Given the description of an element on the screen output the (x, y) to click on. 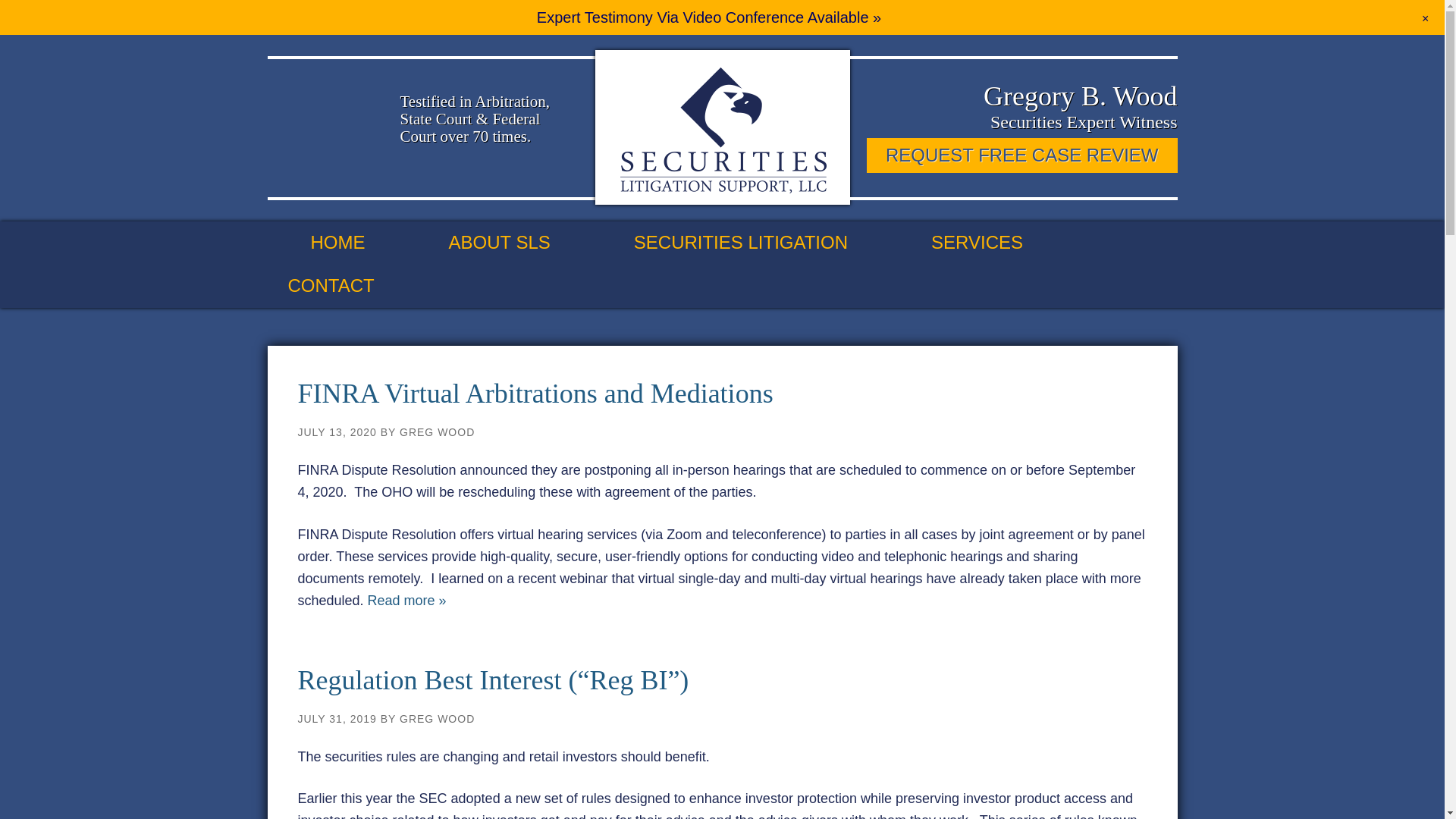
SERVICES (998, 242)
HOME (358, 242)
FINRA Virtual Arbitrations and Mediations (535, 393)
About SLS (520, 242)
Services (998, 242)
ABOUT SLS (520, 242)
Home (358, 242)
CONTACT (351, 285)
REQUEST FREE CASE REVIEW (1021, 154)
Securities Litigation (761, 242)
SECURITIES LITIGATION (761, 242)
